Given the description of an element on the screen output the (x, y) to click on. 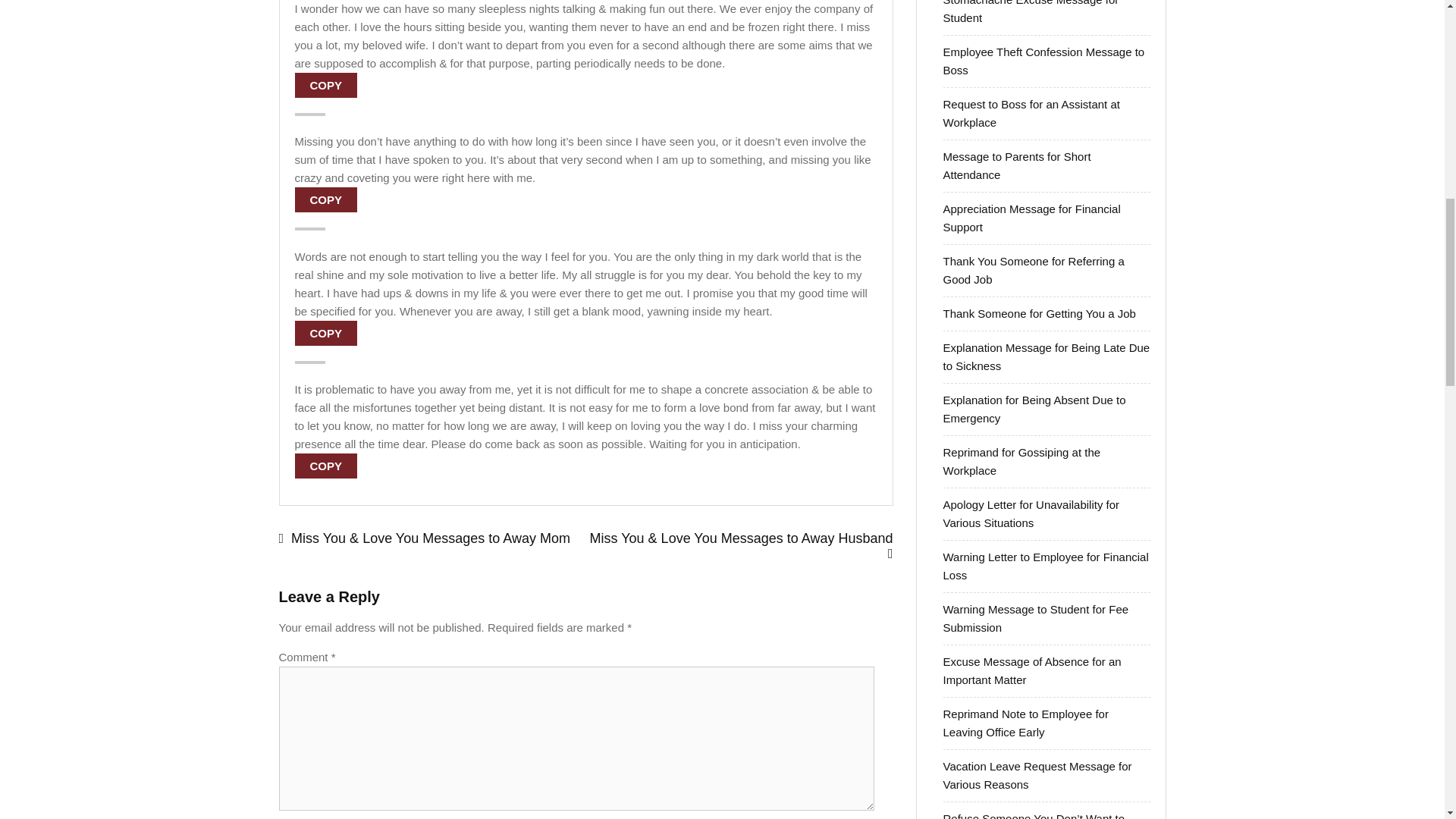
Message to Parents for Short Attendance (1016, 164)
Reprimand for Gossiping at the Workplace (1021, 460)
Warning Message to Student for Fee Submission (1036, 617)
COPY (325, 465)
Apology Letter for Unavailability for Various Situations (1031, 513)
Thank You Someone for Referring a Good Job (1033, 269)
COPY (325, 332)
Explanation for Being Absent Due to Emergency (1034, 409)
Excuse Message of Absence for an Important Matter (1032, 670)
COPY (325, 84)
COPY (325, 199)
Stomachache Excuse Message for Student (1031, 12)
Employee Theft Confession Message to Boss (1043, 60)
Reprimand Note to Employee for Leaving Office Early (1025, 722)
Vacation Leave Request Message for Various Reasons (1037, 775)
